Given the description of an element on the screen output the (x, y) to click on. 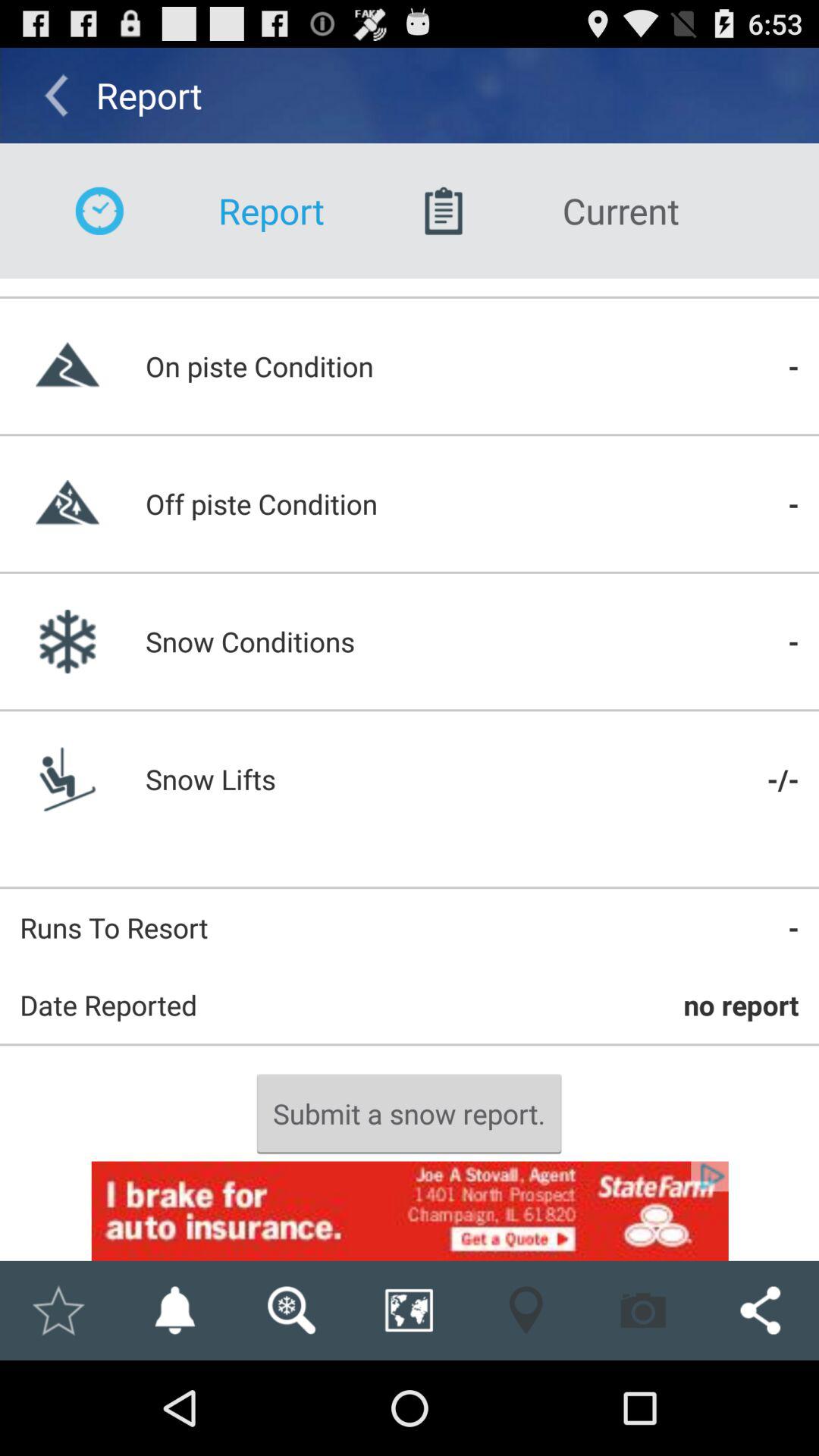
advertisement (409, 1210)
